Given the description of an element on the screen output the (x, y) to click on. 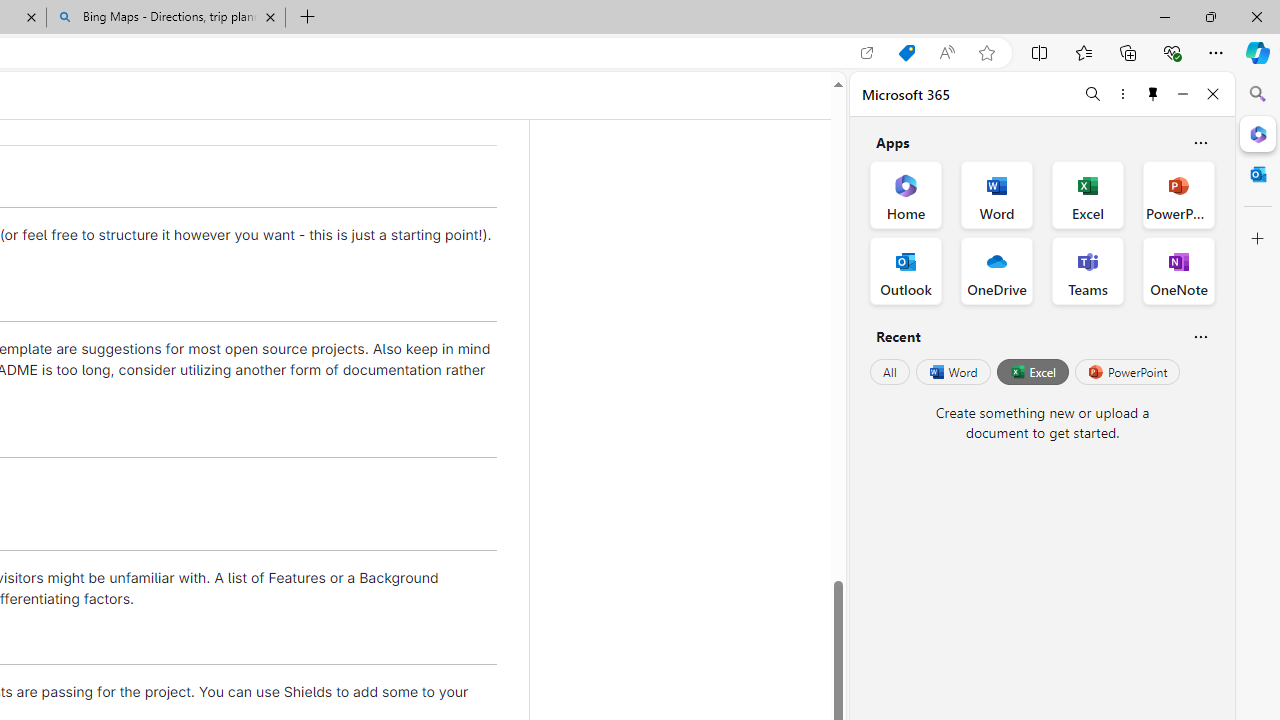
Word (952, 372)
Is this helpful? (1200, 336)
OneNote Office App (1178, 270)
Outlook Office App (906, 270)
Open in app (867, 53)
